Given the description of an element on the screen output the (x, y) to click on. 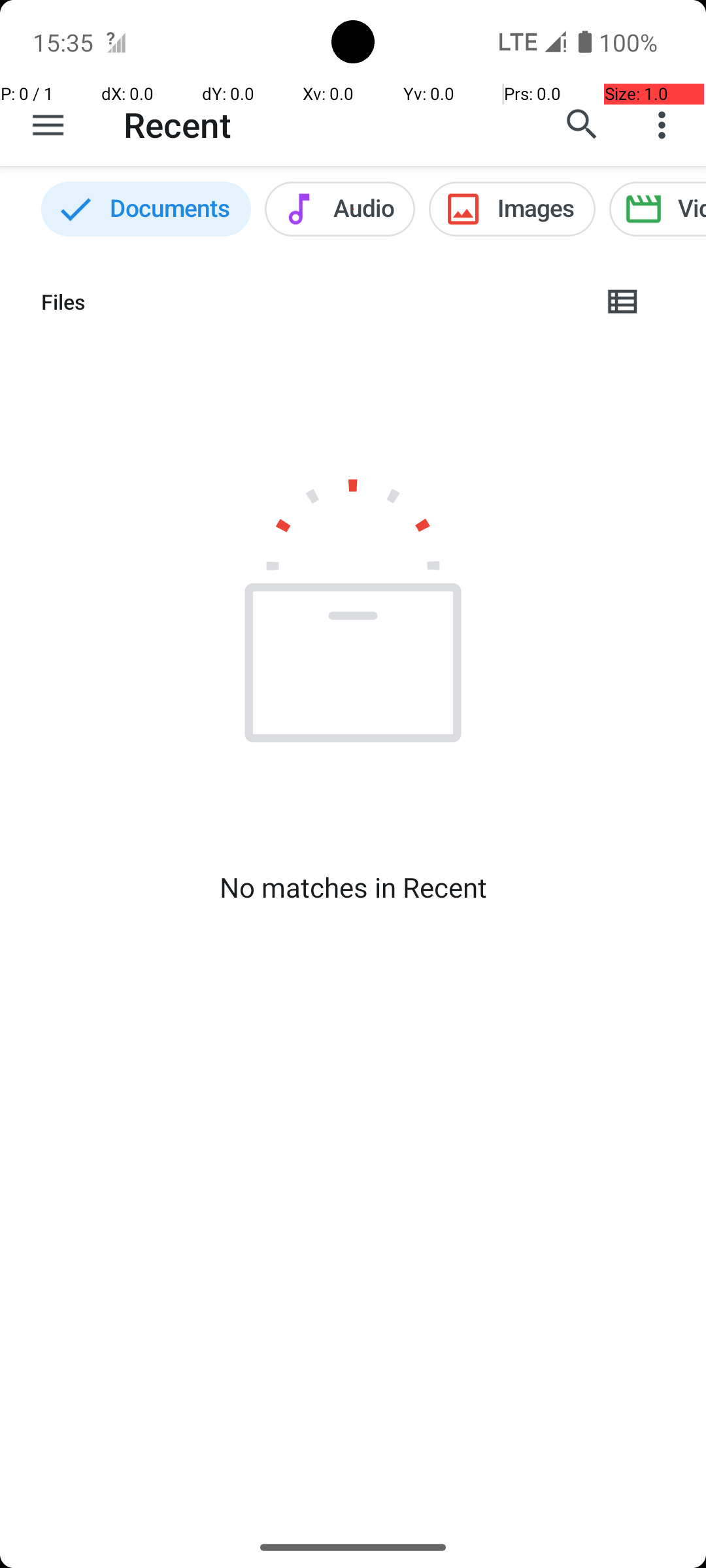
No matches in Recent Element type: android.widget.TextView (352, 886)
